Given the description of an element on the screen output the (x, y) to click on. 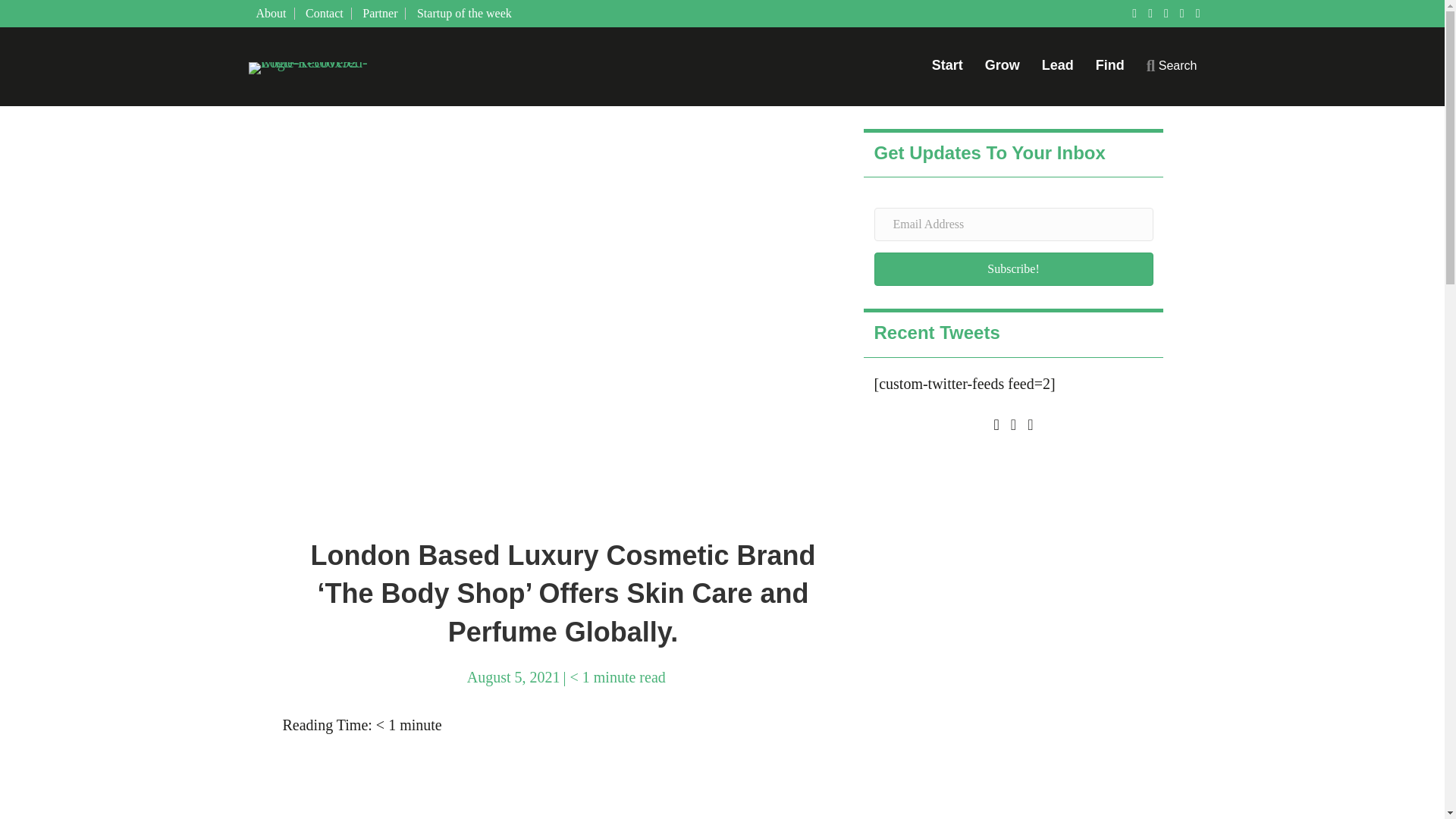
Logo-Recovered-white-1-300x92 (324, 68)
Contact (325, 13)
Grow (1002, 69)
Lead (1057, 69)
Startup of the week (464, 13)
Find (1109, 69)
Partner (380, 13)
About (271, 13)
Start (947, 69)
Search (1171, 69)
